Given the description of an element on the screen output the (x, y) to click on. 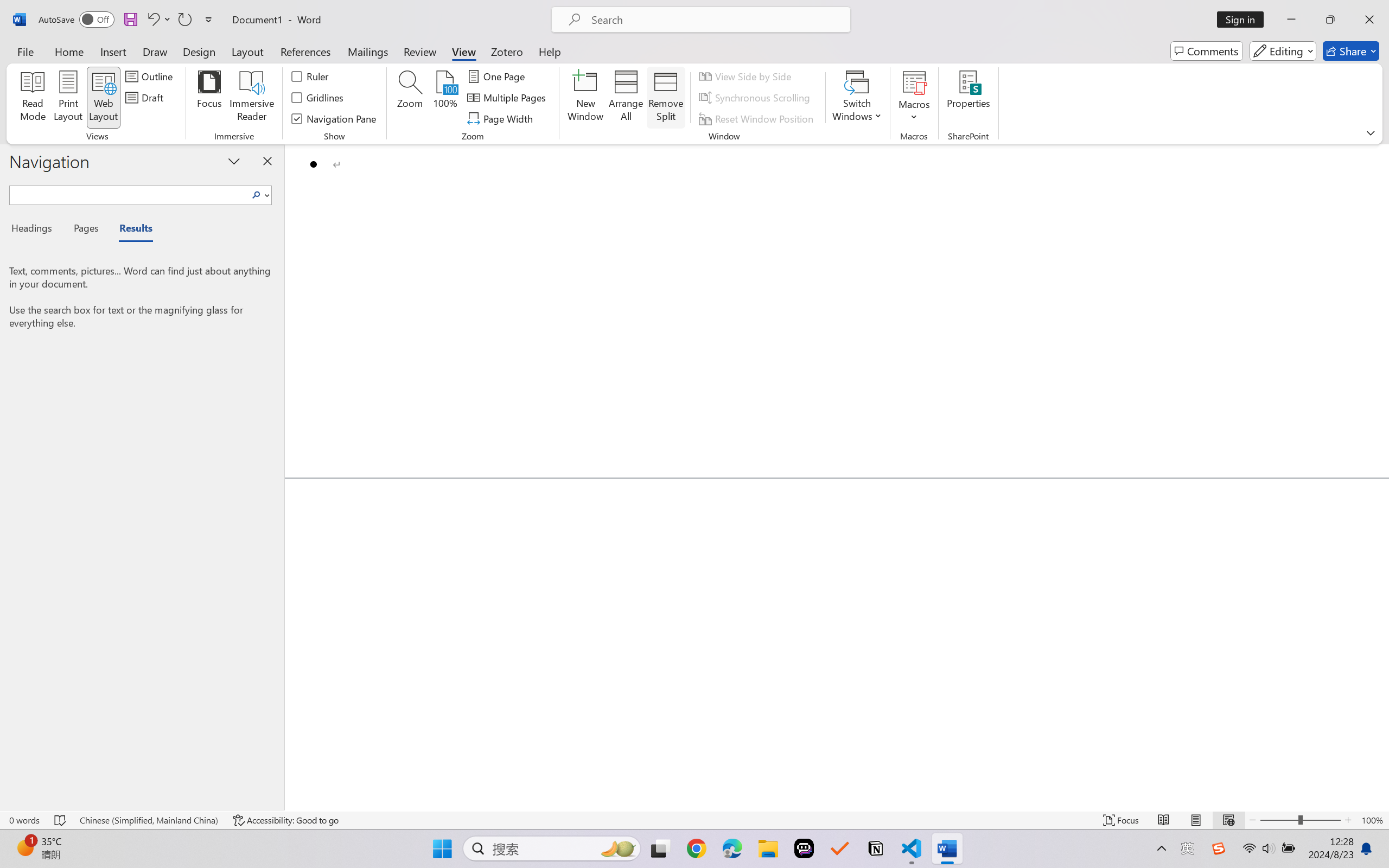
Focus (209, 97)
Outline (150, 75)
Immersive Reader (251, 97)
Remove Split (665, 97)
Gridlines (317, 97)
